Given the description of an element on the screen output the (x, y) to click on. 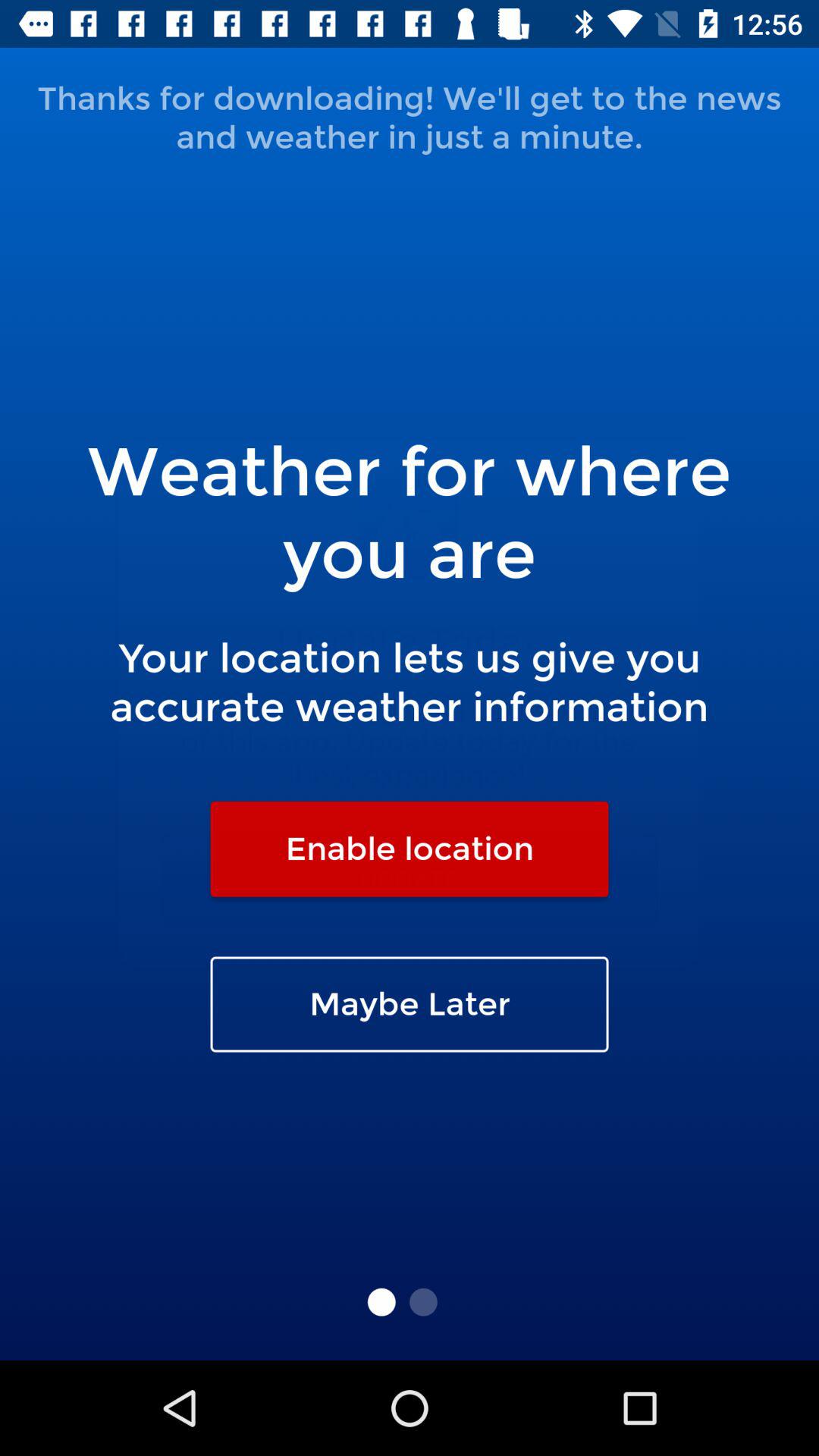
open item below the your location lets (409, 848)
